Given the description of an element on the screen output the (x, y) to click on. 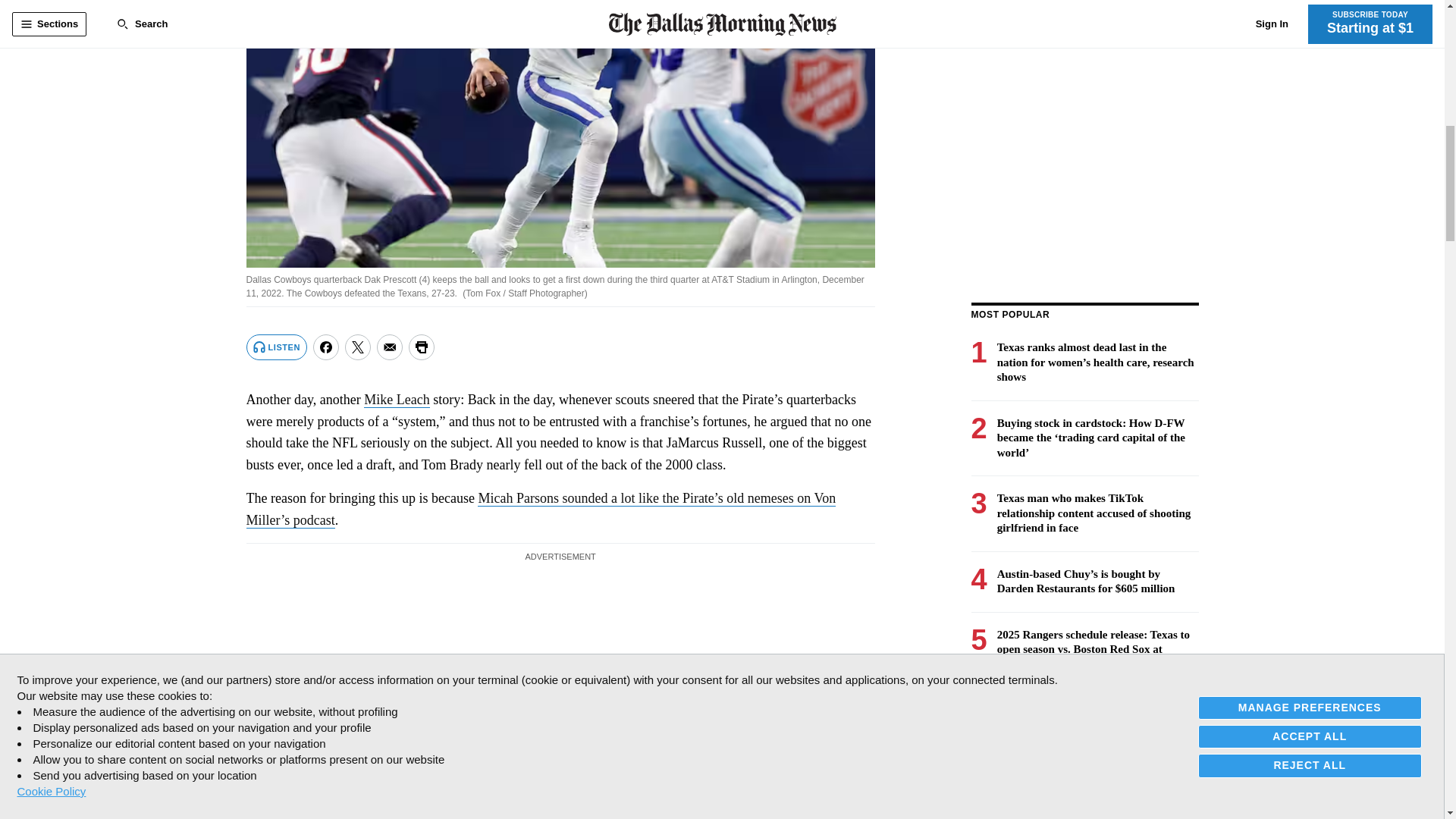
Share via Email (390, 347)
Share on Twitter (358, 347)
Print (421, 347)
Share on Facebook (326, 347)
